Given the description of an element on the screen output the (x, y) to click on. 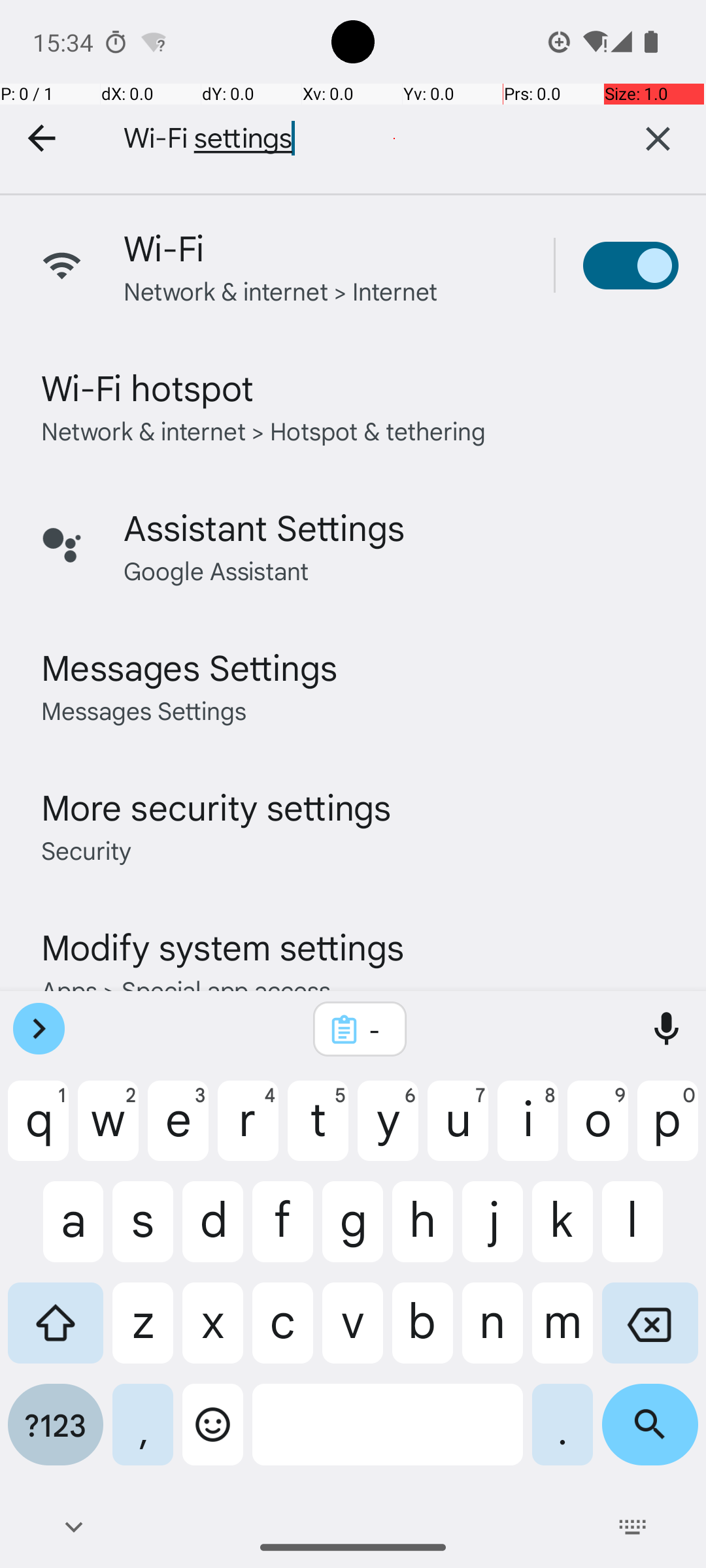
Wi-Fi settings Element type: android.widget.EditText (345, 138)
Network & internet > Internet Element type: android.widget.TextView (280, 289)
Wi-Fi hotspot Element type: android.widget.TextView (147, 386)
Network & internet > Hotspot & tethering Element type: android.widget.TextView (263, 429)
Assistant Settings Element type: android.widget.TextView (263, 526)
Google Assistant Element type: android.widget.TextView (215, 569)
Messages Settings Element type: android.widget.TextView (189, 666)
Modify system settings Element type: android.widget.TextView (222, 945)
Apps > Special app access Element type: android.widget.TextView (185, 988)
